Given the description of an element on the screen output the (x, y) to click on. 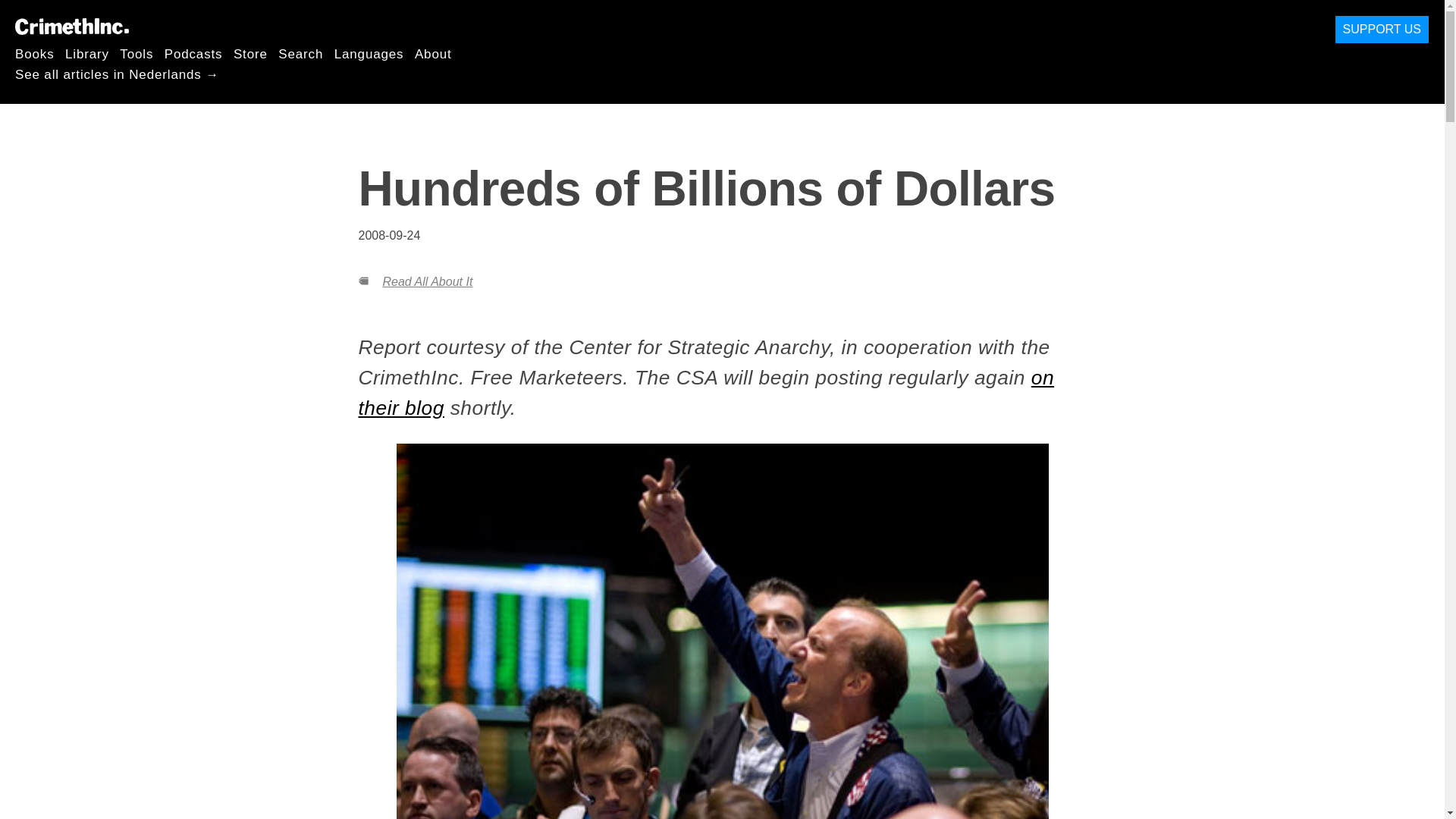
About (432, 53)
Store (249, 53)
Read All About It (426, 281)
SUPPORT US (1382, 29)
Books (34, 53)
Podcasts (193, 53)
on their blog (706, 392)
Languages (369, 53)
Library (87, 53)
Search (300, 53)
Tools (135, 53)
CrimethInc. (71, 26)
